Given the description of an element on the screen output the (x, y) to click on. 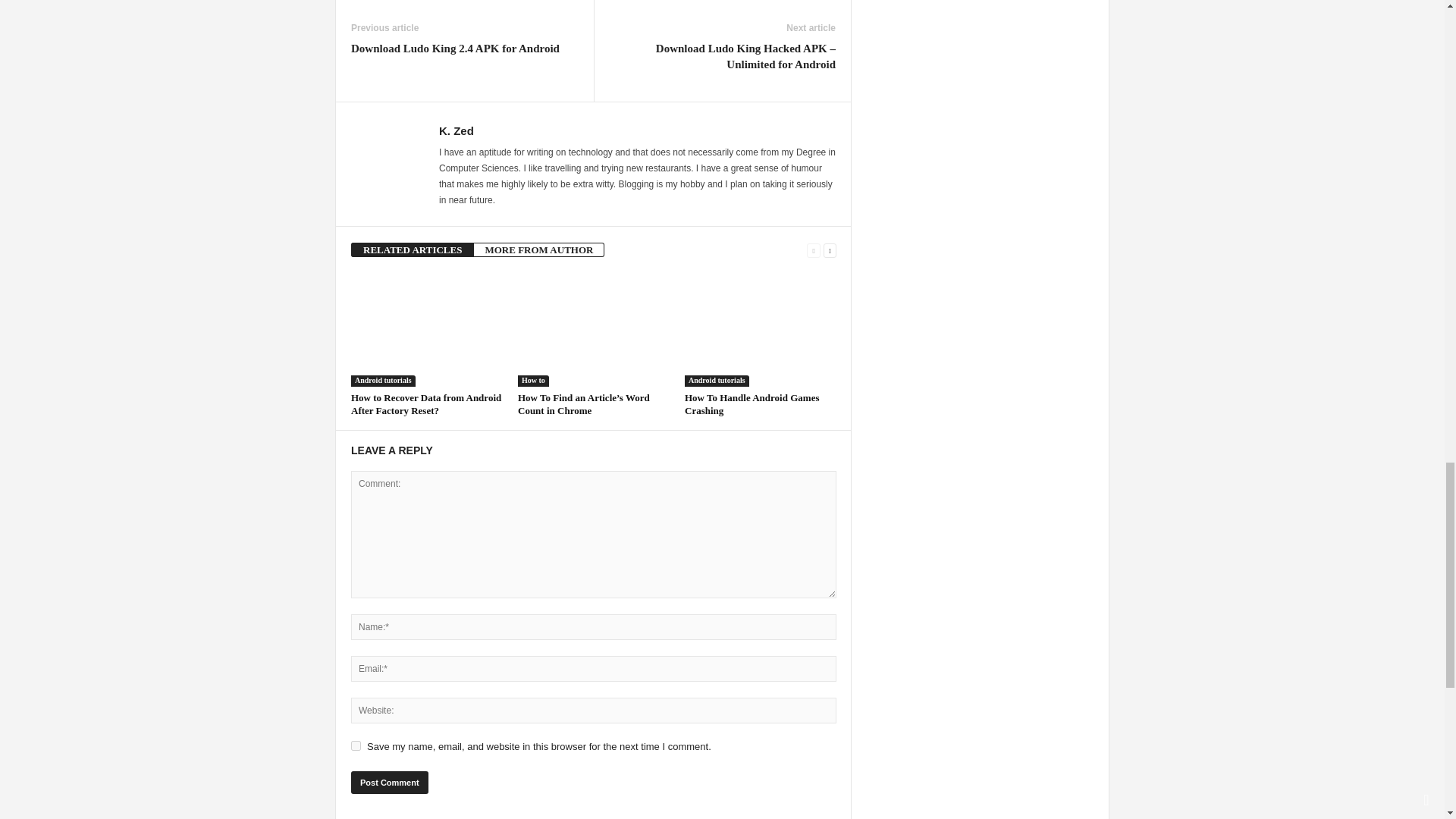
yes (355, 745)
Post Comment (389, 781)
